Given the description of an element on the screen output the (x, y) to click on. 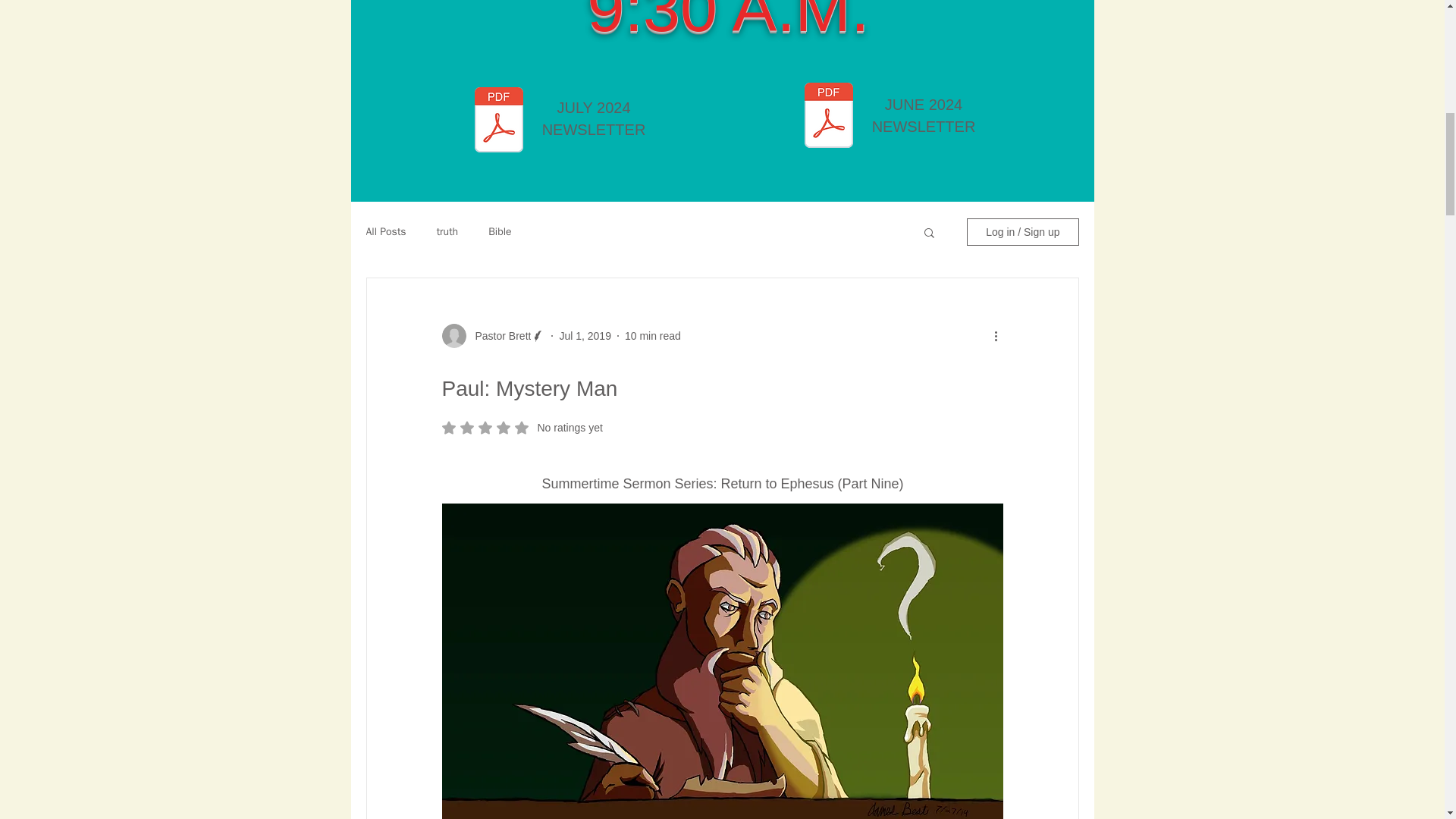
Jul 1, 2019 (585, 336)
truth (447, 232)
10 min read (652, 336)
Bible (499, 232)
All Posts (385, 232)
Pastor Brett (498, 335)
